Given the description of an element on the screen output the (x, y) to click on. 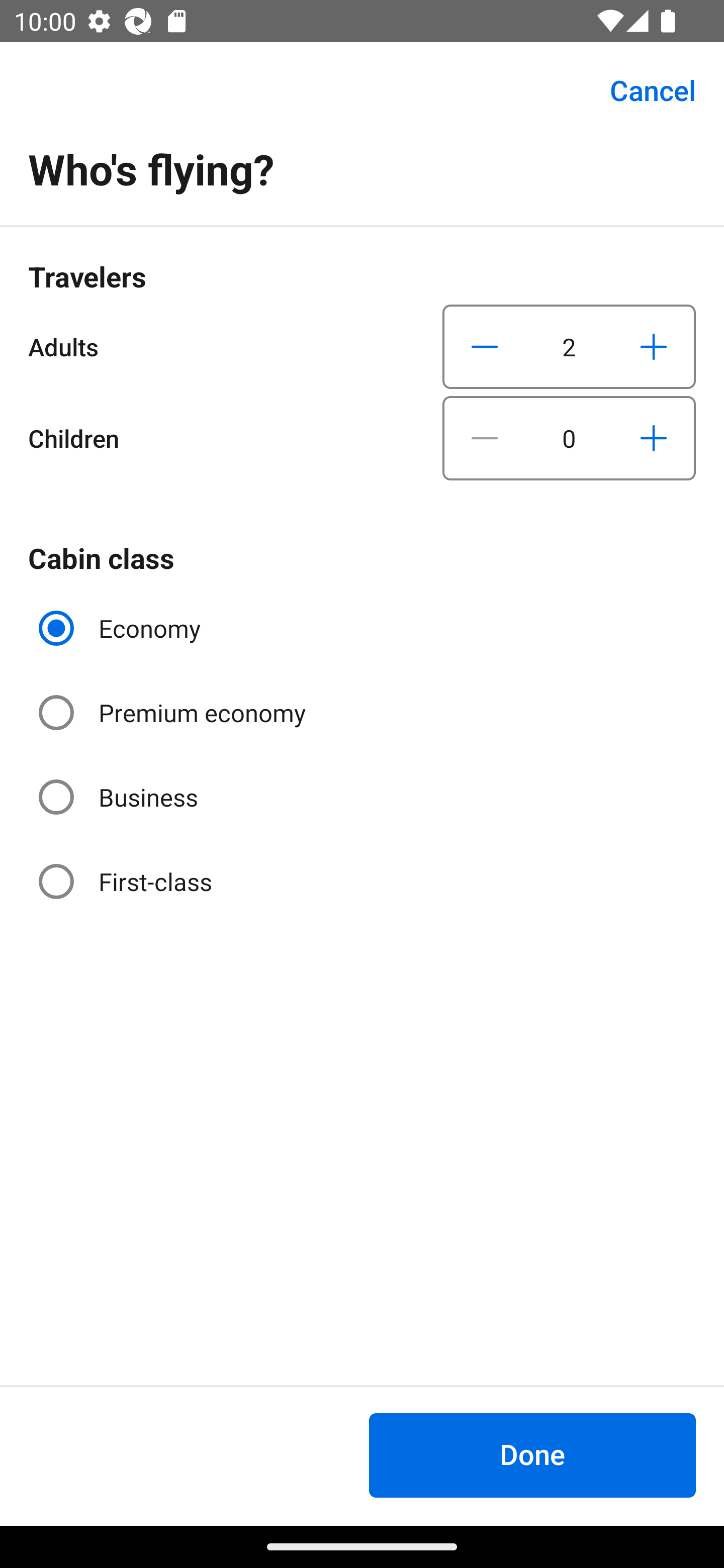
Cancel (641, 90)
Decrease (484, 346)
Increase (653, 346)
Decrease (484, 437)
Increase (653, 437)
Economy (121, 628)
Premium economy (174, 712)
Business (120, 796)
First-class (126, 880)
Done (532, 1454)
